Given the description of an element on the screen output the (x, y) to click on. 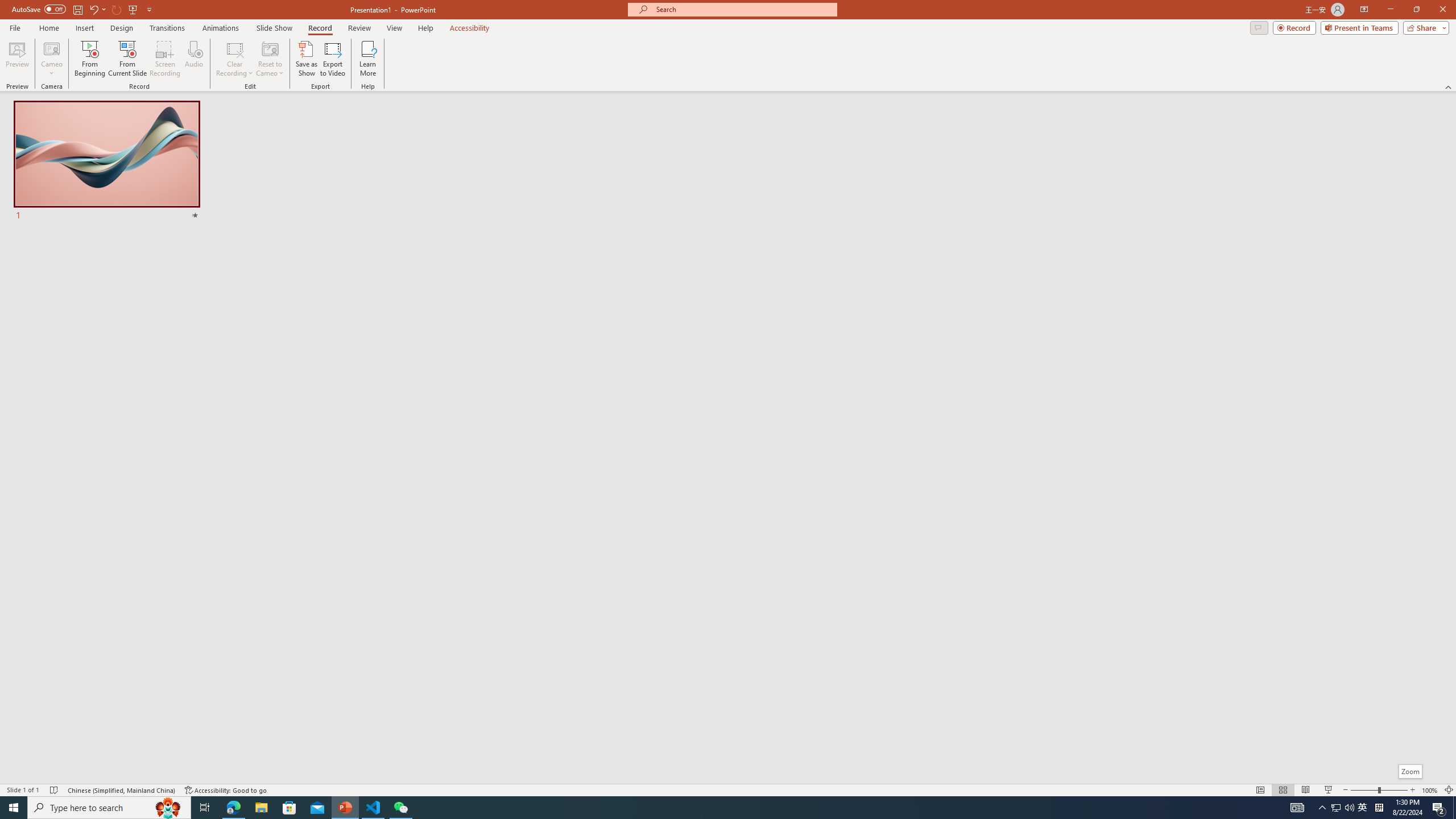
Learn More (368, 58)
Cameo (51, 48)
Clear Recording (234, 58)
